Given the description of an element on the screen output the (x, y) to click on. 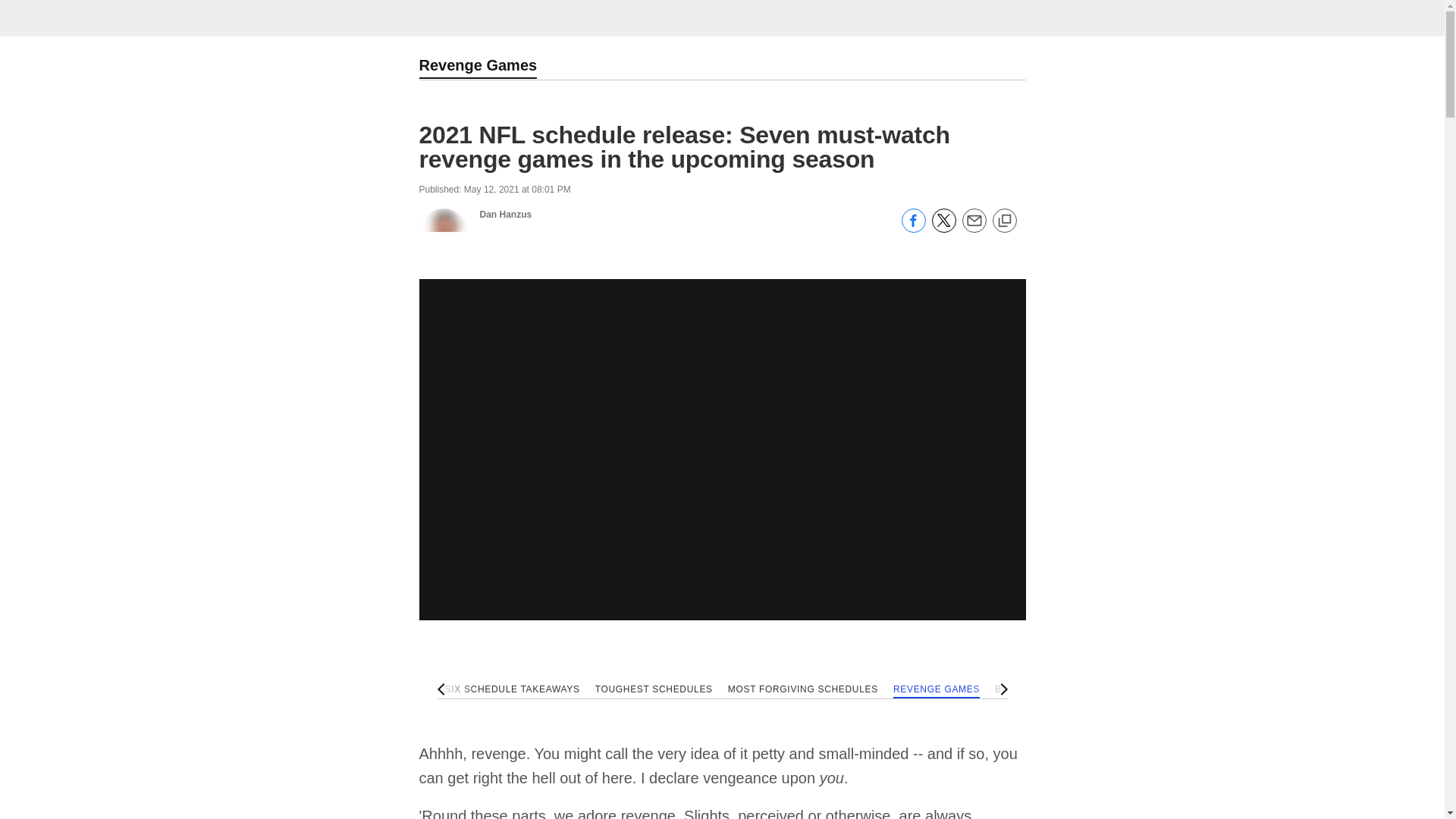
Share on Twitter (943, 228)
Previous (442, 689)
TOUGHEST SCHEDULES (654, 690)
MOST FORGIVING SCHEDULES (802, 690)
Share on Facebook (912, 228)
Send email (972, 228)
Copy link (1003, 221)
Next (1001, 689)
BEST PRIME-TIME MATCHUPS (1067, 690)
SIX SCHEDULE TAKEAWAYS (511, 690)
